Given the description of an element on the screen output the (x, y) to click on. 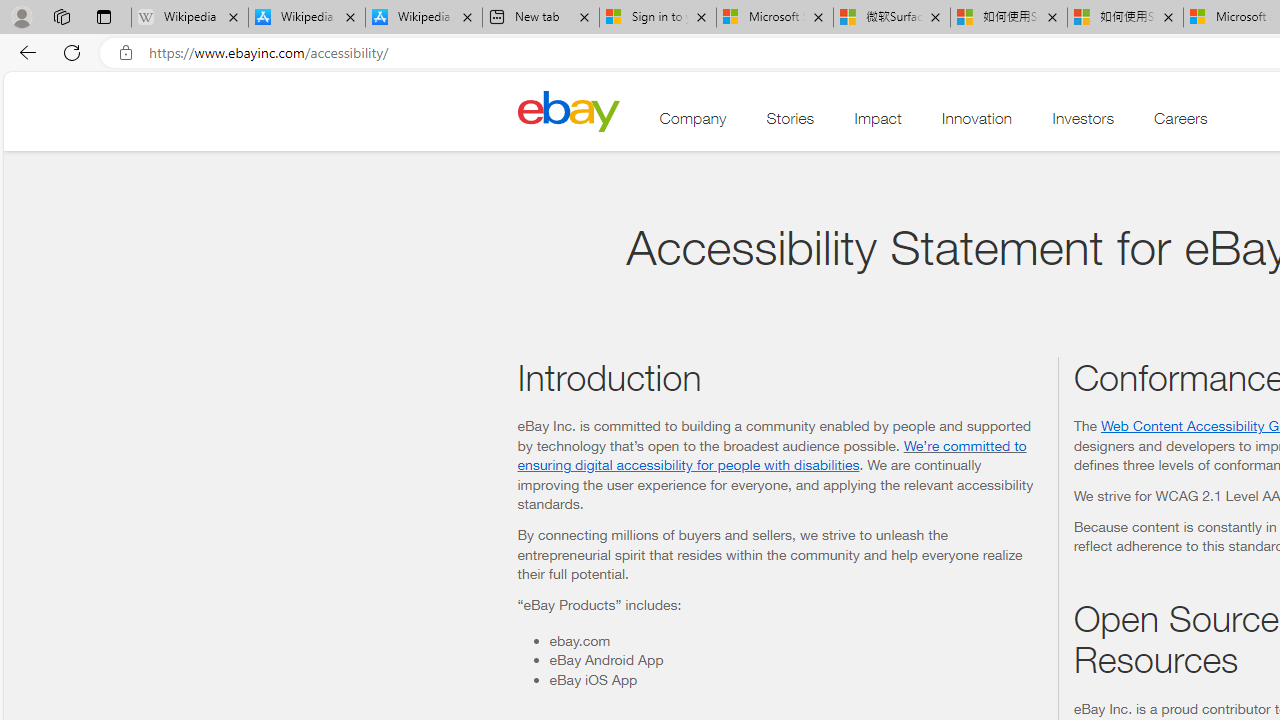
Impact (877, 123)
Company (693, 123)
Class: desktop (568, 110)
Impact (877, 123)
Stories (790, 123)
eBay Android App (795, 660)
ebay.com (795, 640)
Stories (790, 123)
